Given the description of an element on the screen output the (x, y) to click on. 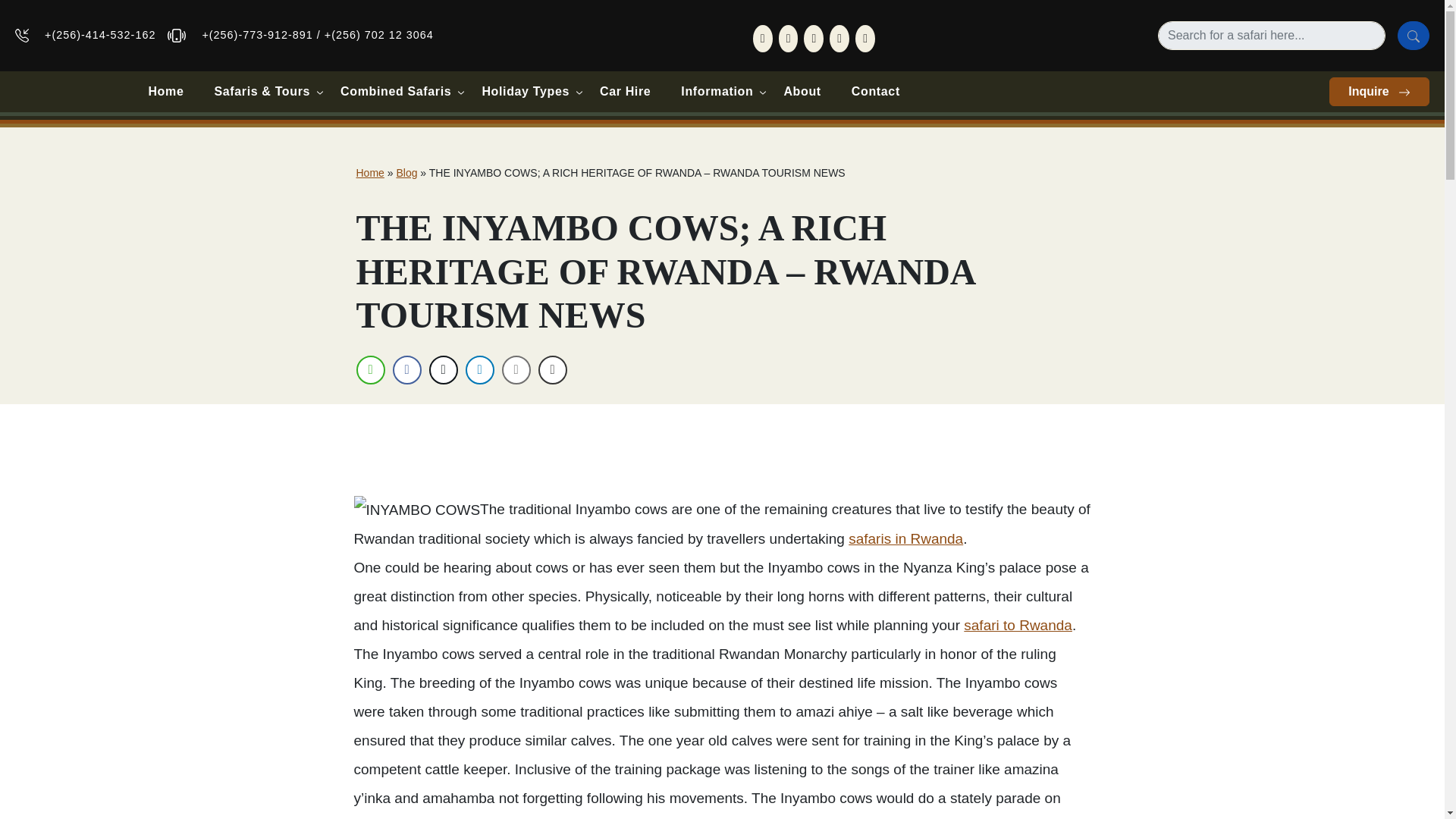
Combined Safaris (394, 91)
Home (165, 91)
Holiday Types (525, 91)
